Given the description of an element on the screen output the (x, y) to click on. 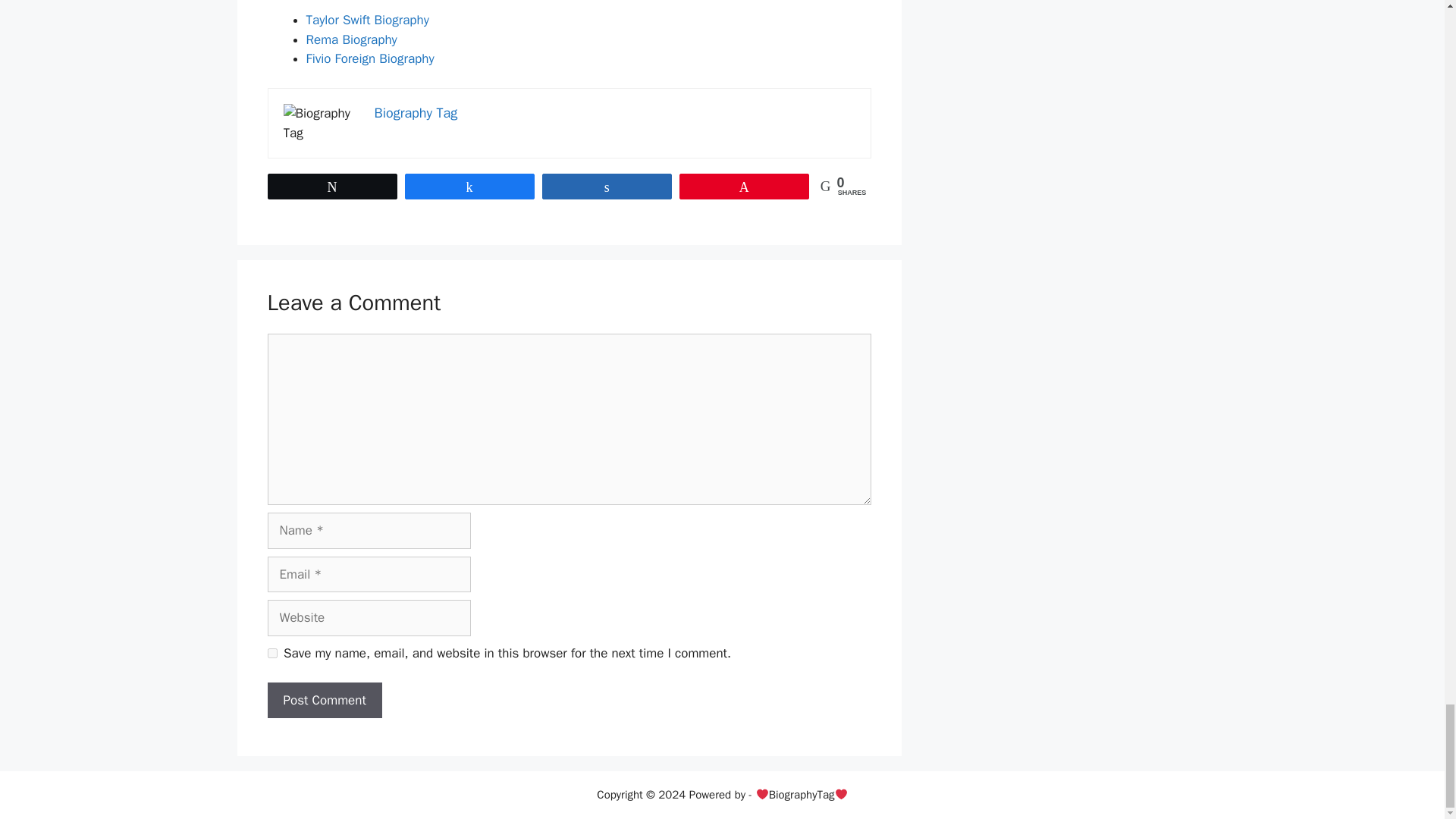
Post Comment (323, 700)
Biography Tag (416, 112)
Taylor Swift Biography (367, 19)
Post Comment (323, 700)
Rema Biography (351, 39)
yes (271, 653)
Fivio Foreign Biography (369, 58)
